Given the description of an element on the screen output the (x, y) to click on. 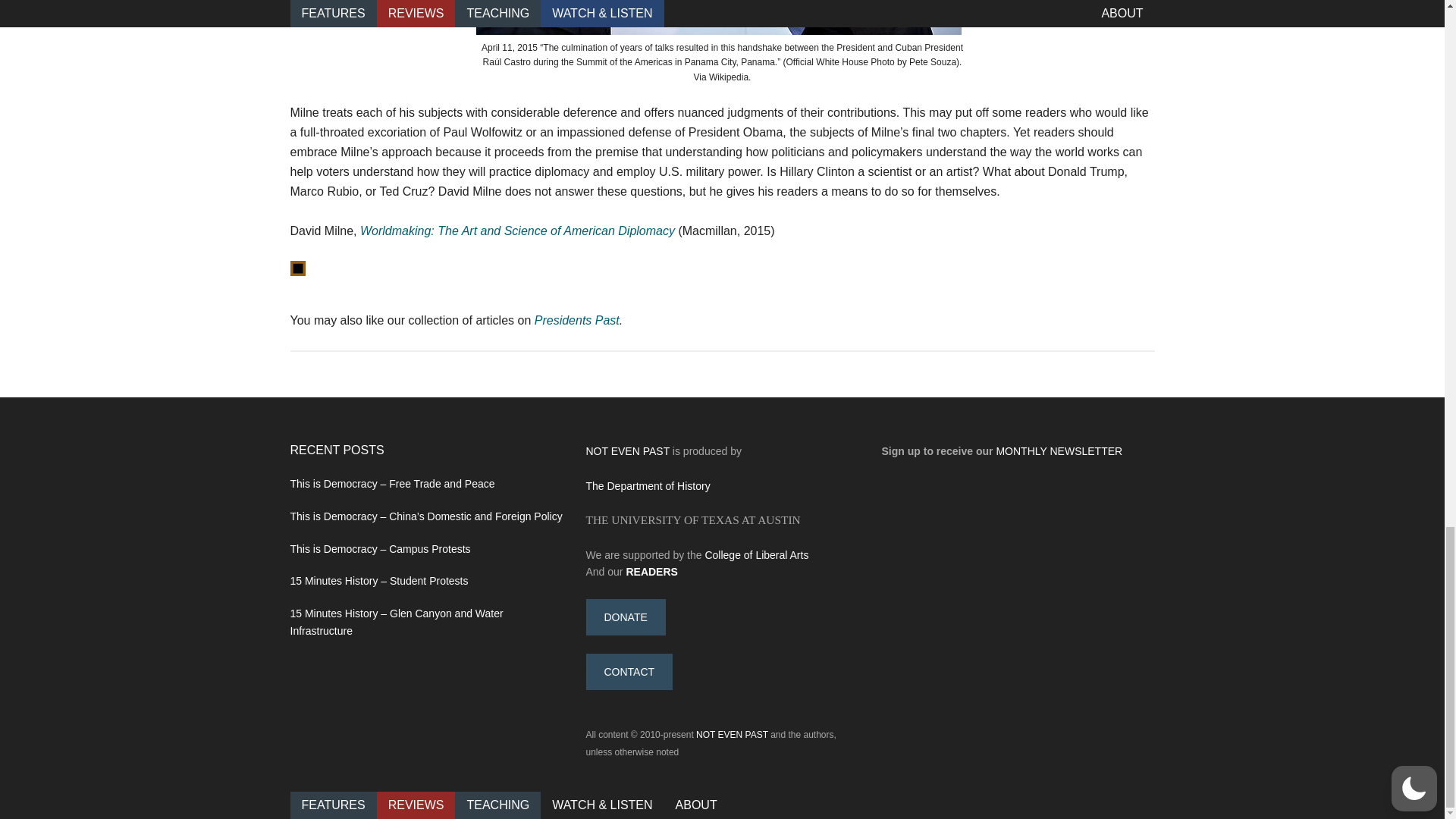
THE UNIVERSITY OF TEXAS AT AUSTIN (692, 519)
DONATE (625, 616)
College of Liberal Arts (756, 554)
Worldmaking: The Art and Science of American Diplomacy (517, 230)
Presidents Past (577, 319)
CONTACT (628, 671)
The Department of History (647, 485)
MONTHLY NEWSLETTER (1058, 451)
